Given the description of an element on the screen output the (x, y) to click on. 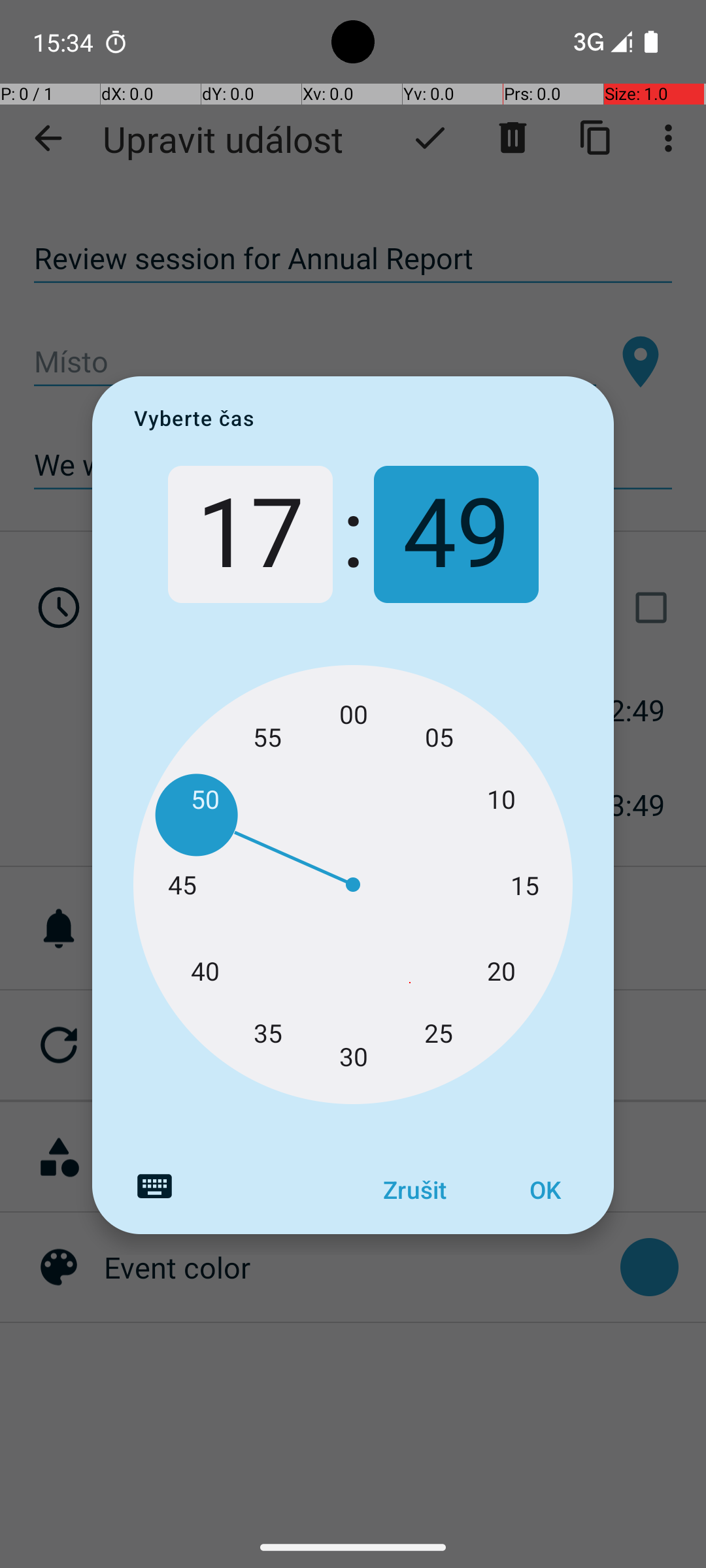
49 Element type: android.view.View (455, 534)
Chcete-li zadat čas, přepněte na režim textu. Element type: android.widget.Button (154, 1186)
